Given the description of an element on the screen output the (x, y) to click on. 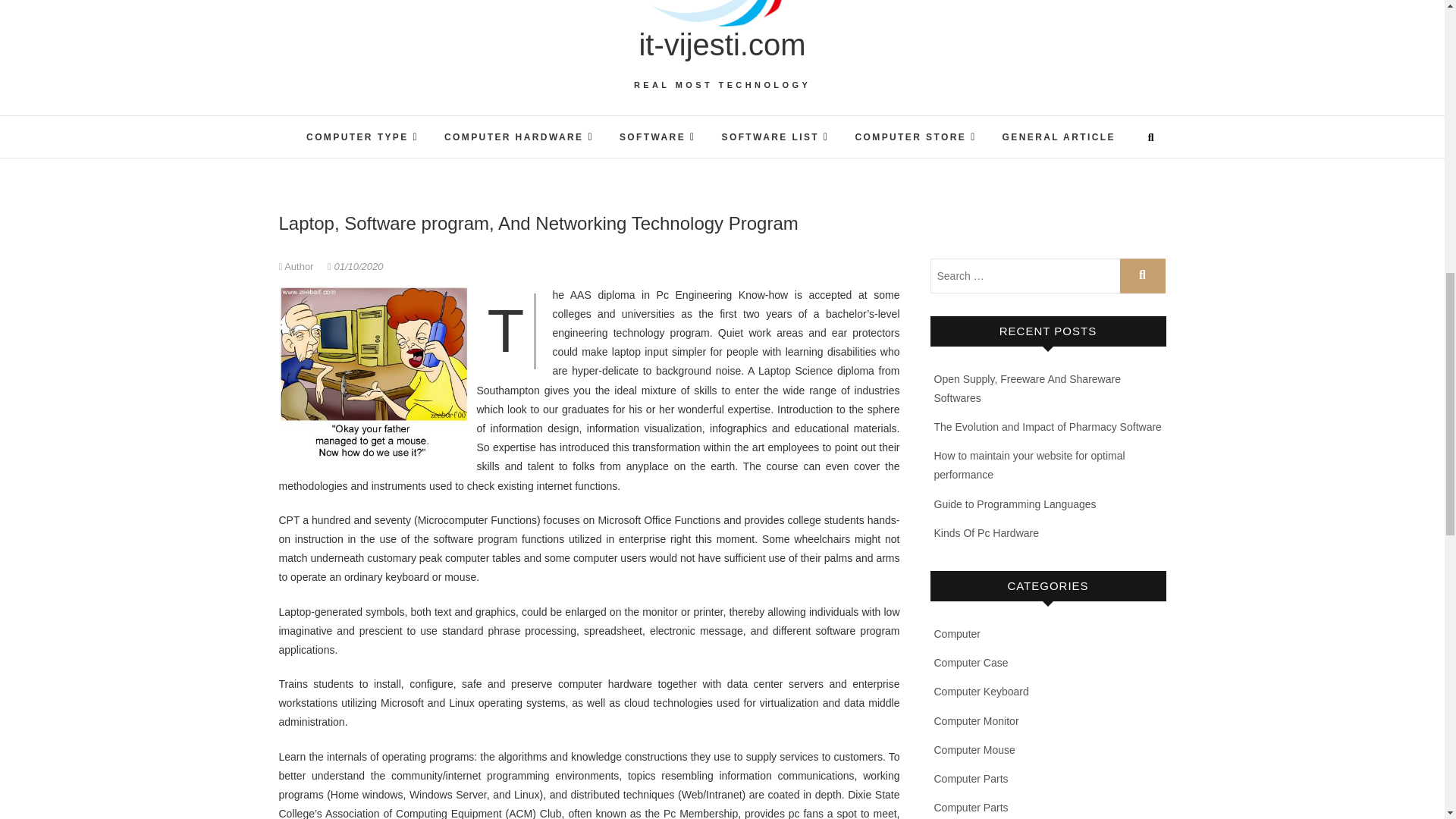
SOFTWARE LIST (775, 136)
COMPUTER STORE (915, 136)
Laptop, Software program, And Networking Technology Program (298, 266)
it-vijesti.com (721, 43)
Author (298, 266)
GENERAL ARTICLE (1058, 137)
it-vijesti.com (721, 43)
COMPUTER TYPE (362, 136)
SOFTWARE (657, 136)
COMPUTER HARDWARE (518, 136)
07:50 (354, 266)
